Given the description of an element on the screen output the (x, y) to click on. 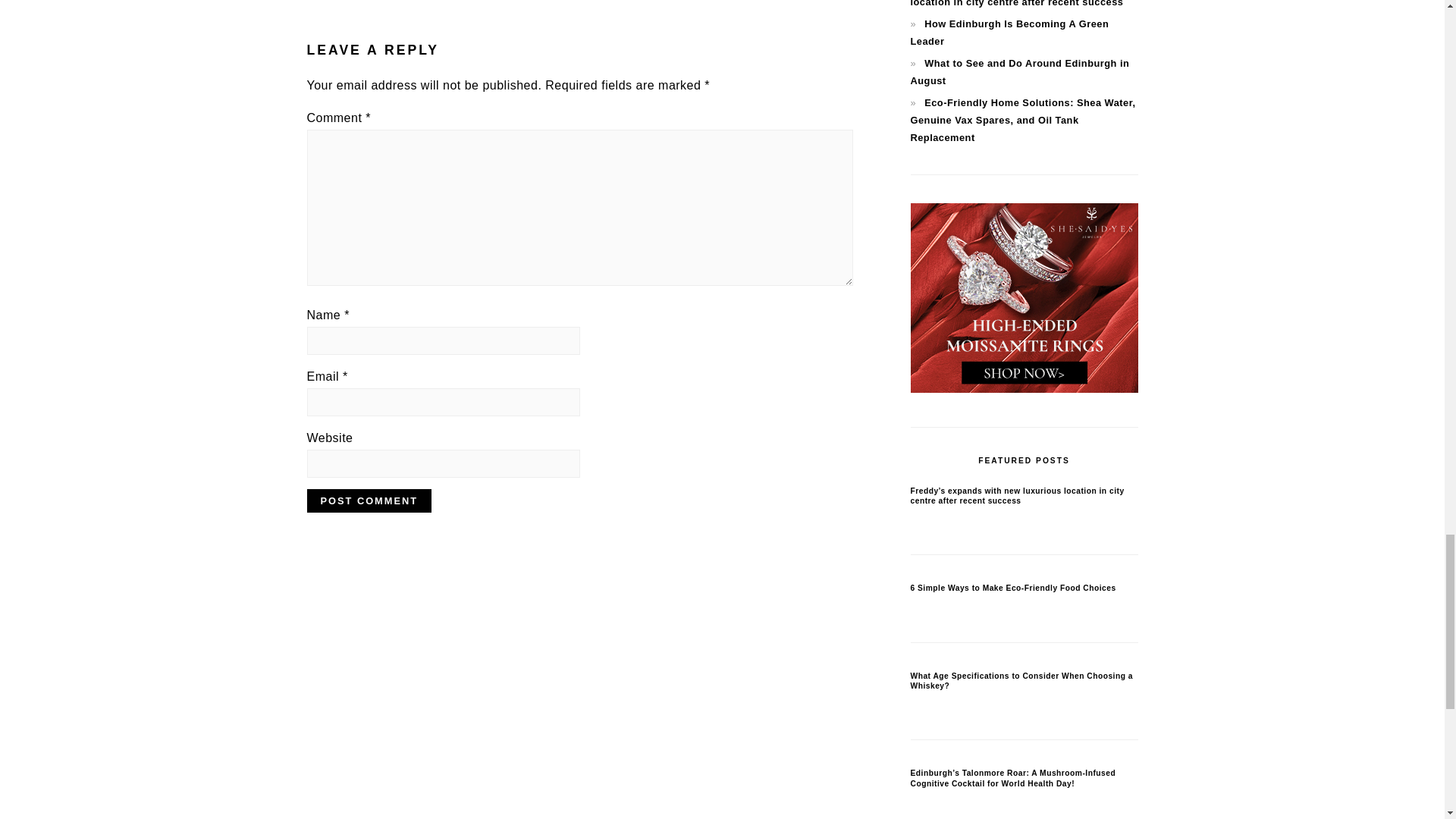
Post Comment (367, 500)
Post Comment (367, 500)
